Given the description of an element on the screen output the (x, y) to click on. 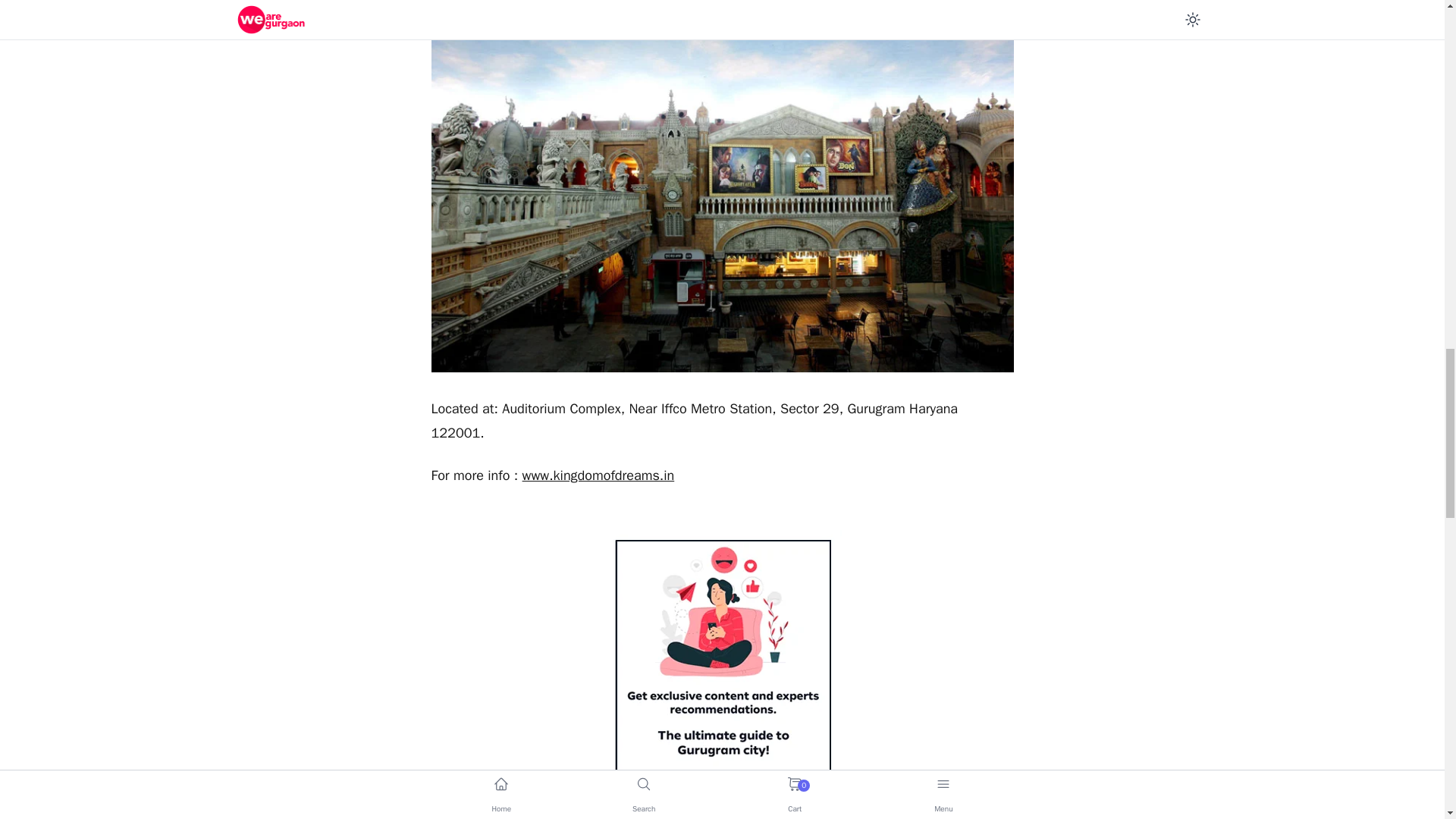
www.kingdomofdreams.in (598, 475)
